Given the description of an element on the screen output the (x, y) to click on. 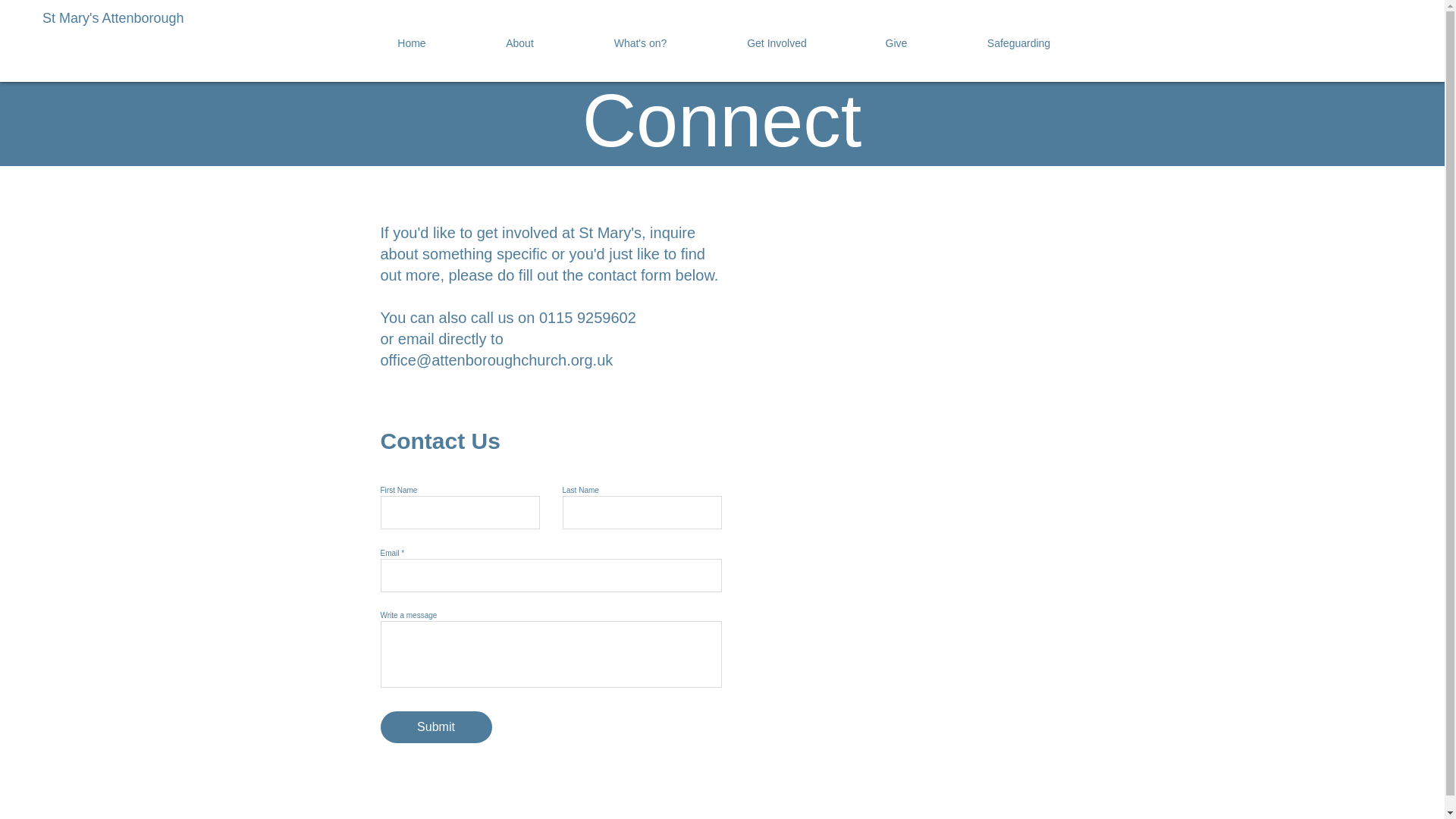
About (519, 43)
What's on? (639, 43)
Safeguarding (1019, 43)
Give (894, 43)
Home (411, 43)
Submit (436, 726)
Get Involved (775, 43)
St Mary's Attenborough (206, 18)
